Given the description of an element on the screen output the (x, y) to click on. 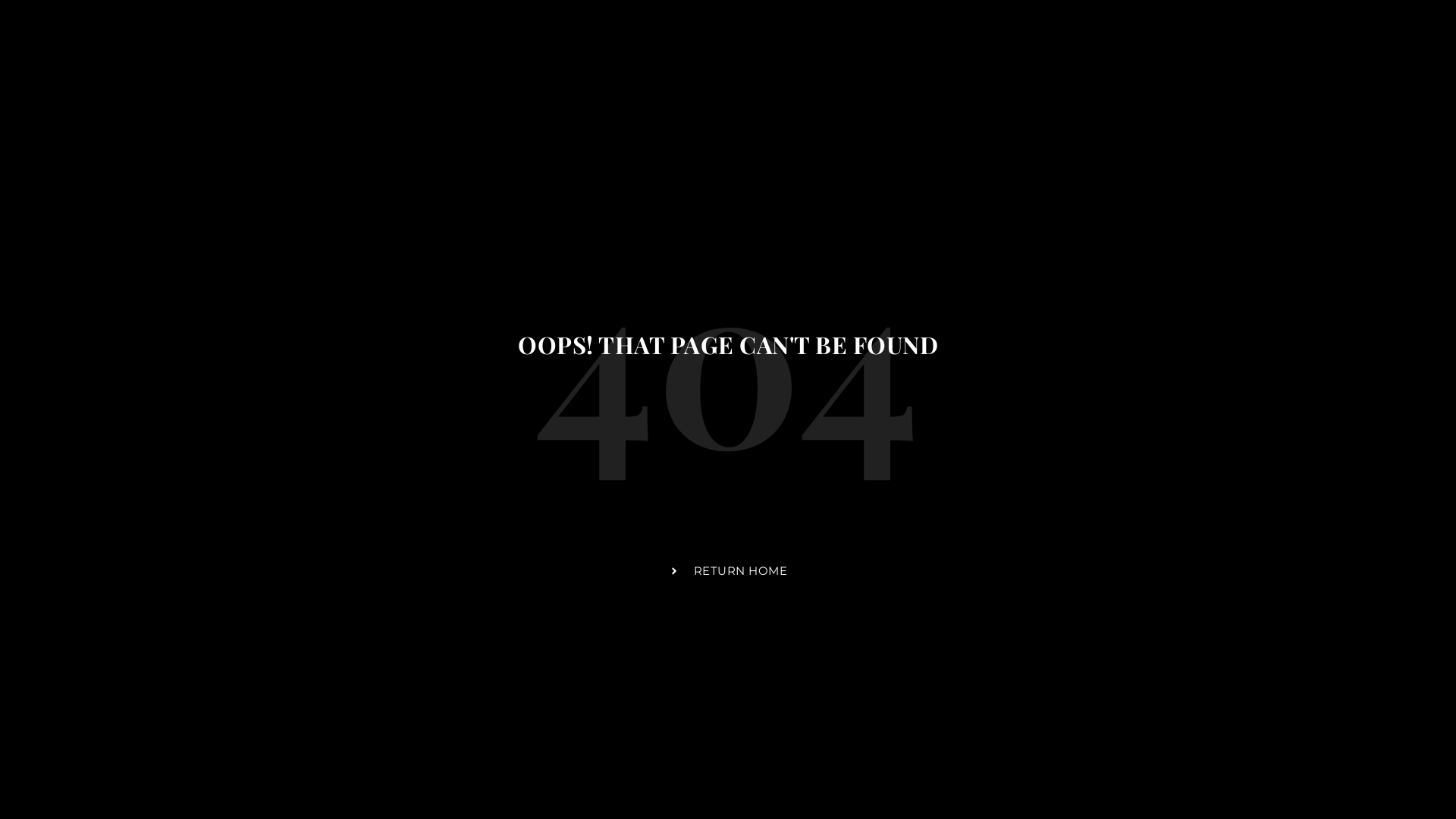
RETURN HOME Element type: text (727, 570)
